Given the description of an element on the screen output the (x, y) to click on. 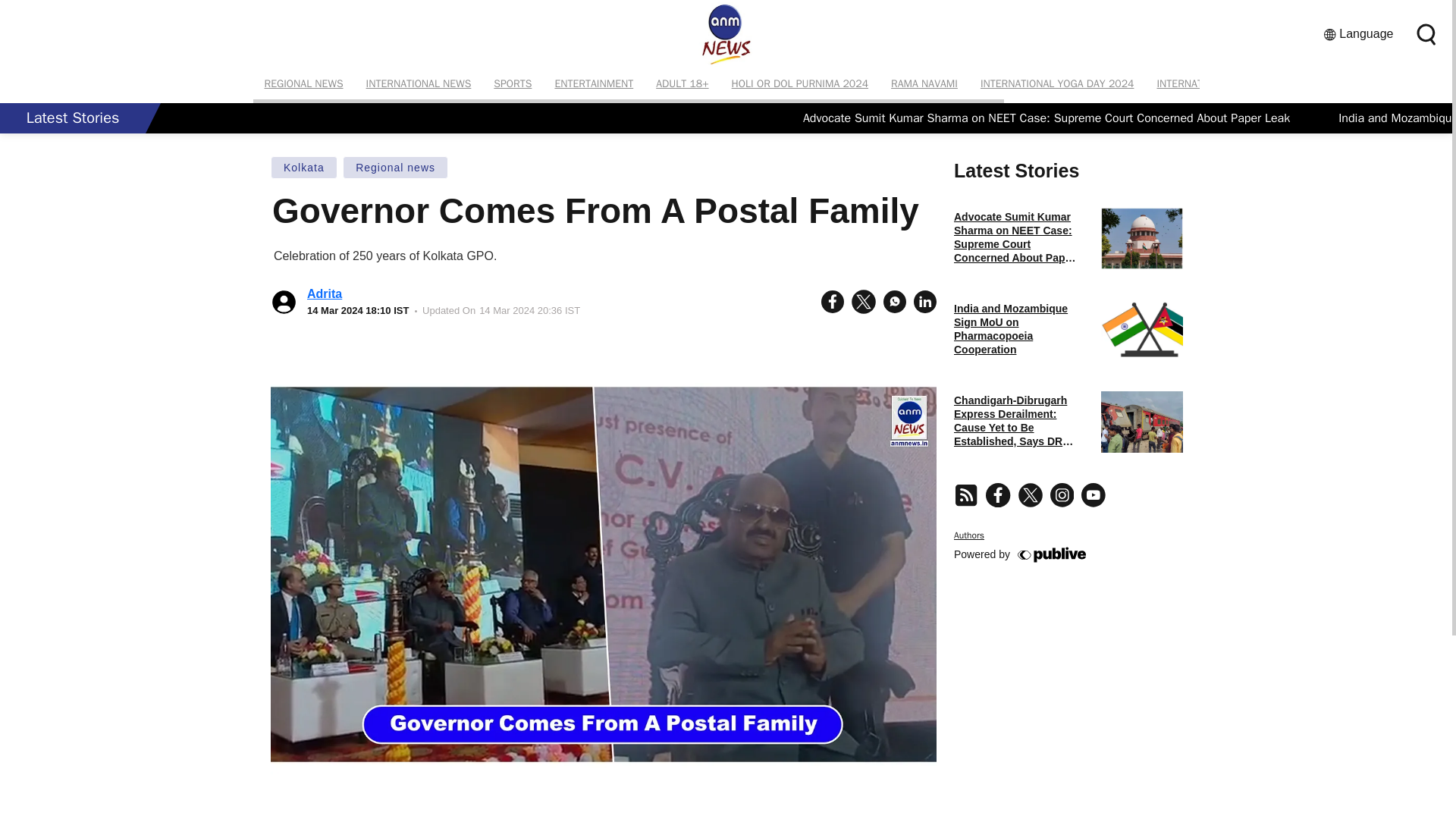
ENTERTAINMENT (594, 83)
SPORTS (512, 83)
INTERNATIONAL WOMEN'S DAY (1229, 83)
INTERNATIONAL YOGA DAY 2024 (1057, 83)
Regional news (395, 167)
Language (1358, 34)
RAMA NAVAMI (924, 83)
HOLI OR DOL PURNIMA 2024 (799, 83)
PAHELA BAISAKH 1431 (1379, 83)
REGIONAL NEWS (304, 83)
Adrita (324, 293)
INTERNATIONAL NEWS (419, 83)
Kolkata (303, 167)
